Given the description of an element on the screen output the (x, y) to click on. 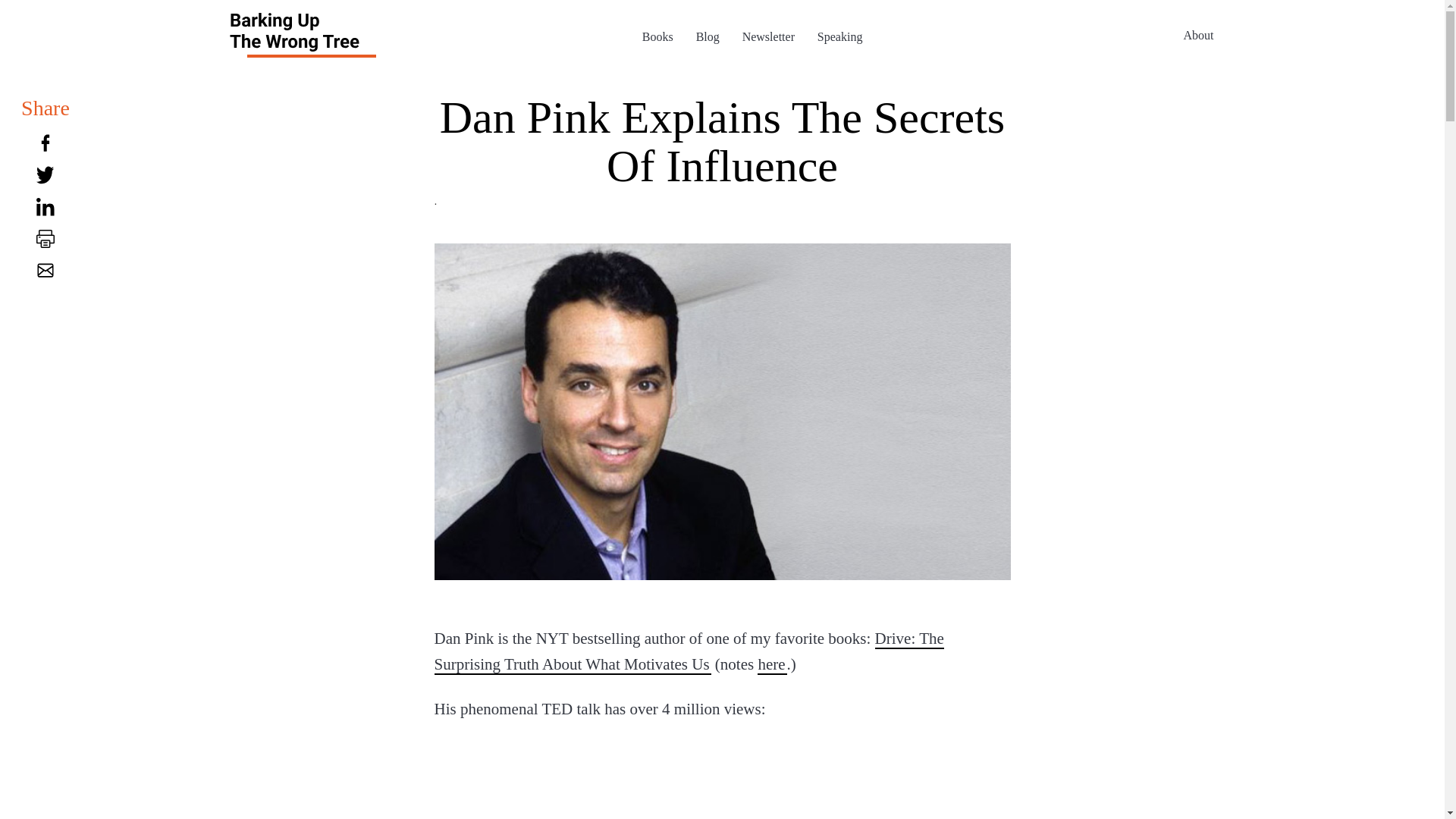
Books (657, 36)
Newsletter (768, 36)
here (771, 663)
Speaking (839, 36)
Blog (707, 36)
About (1198, 34)
Drive: The Surprising Truth About What Motivates Us (688, 651)
